Given the description of an element on the screen output the (x, y) to click on. 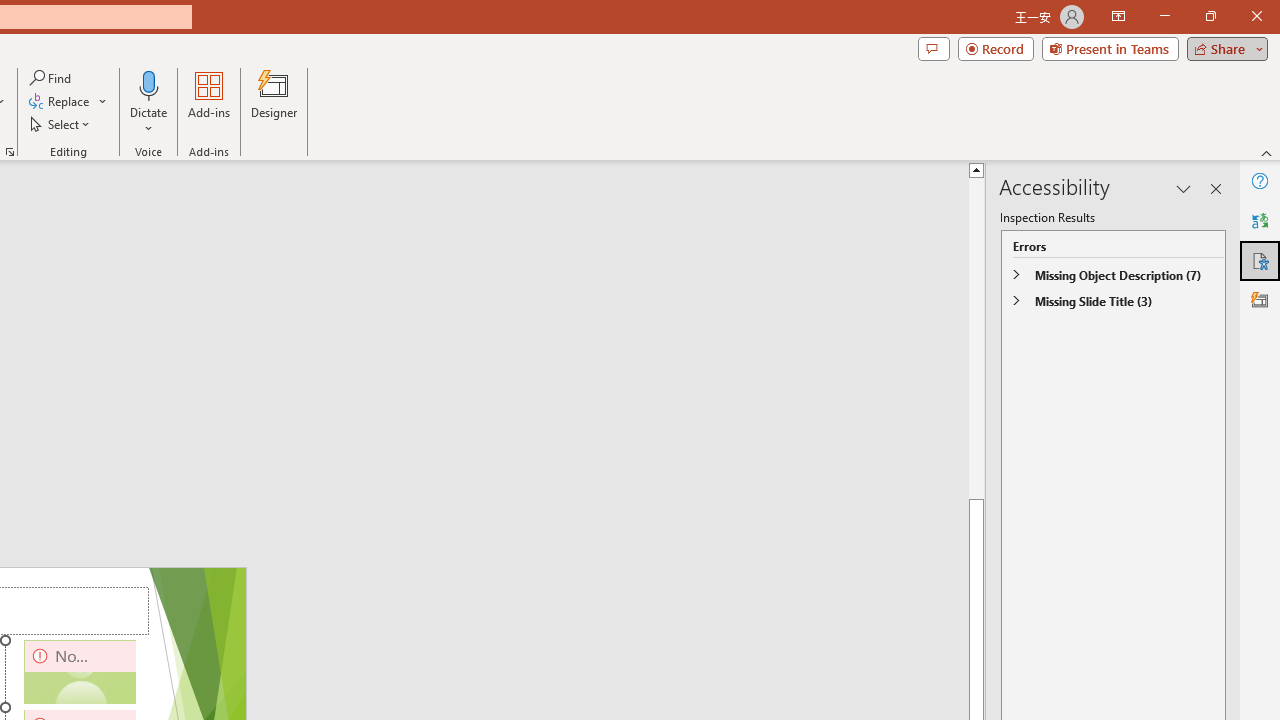
Camera 5, No camera detected. (80, 672)
